Given the description of an element on the screen output the (x, y) to click on. 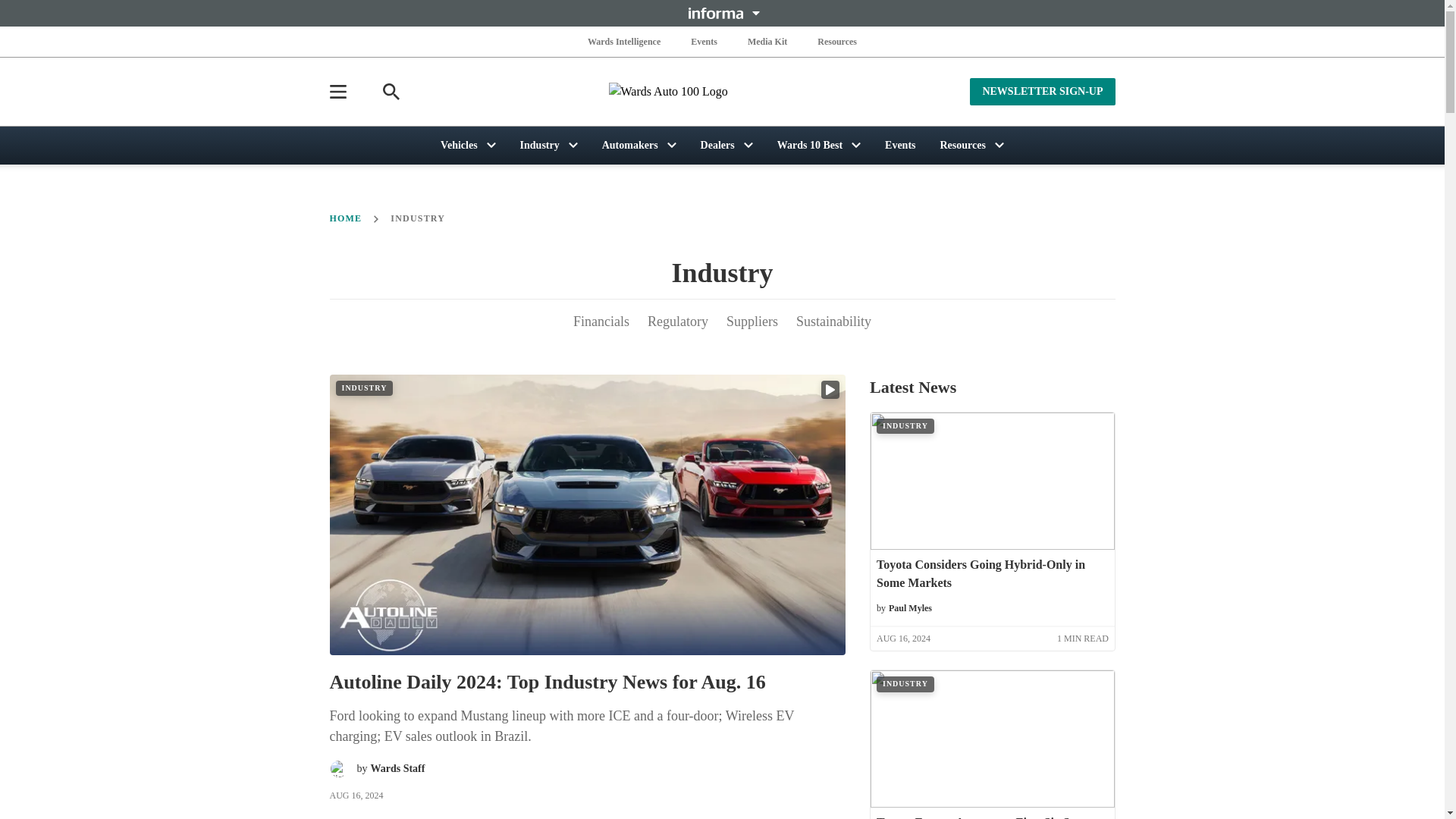
Resources (836, 41)
Media Kit (767, 41)
NEWSLETTER SIGN-UP (1042, 90)
Wards Auto 100 Logo (721, 91)
Picture of Wards Staff (338, 769)
Wards Intelligence (624, 41)
Link to all video (829, 389)
Events (703, 41)
